Given the description of an element on the screen output the (x, y) to click on. 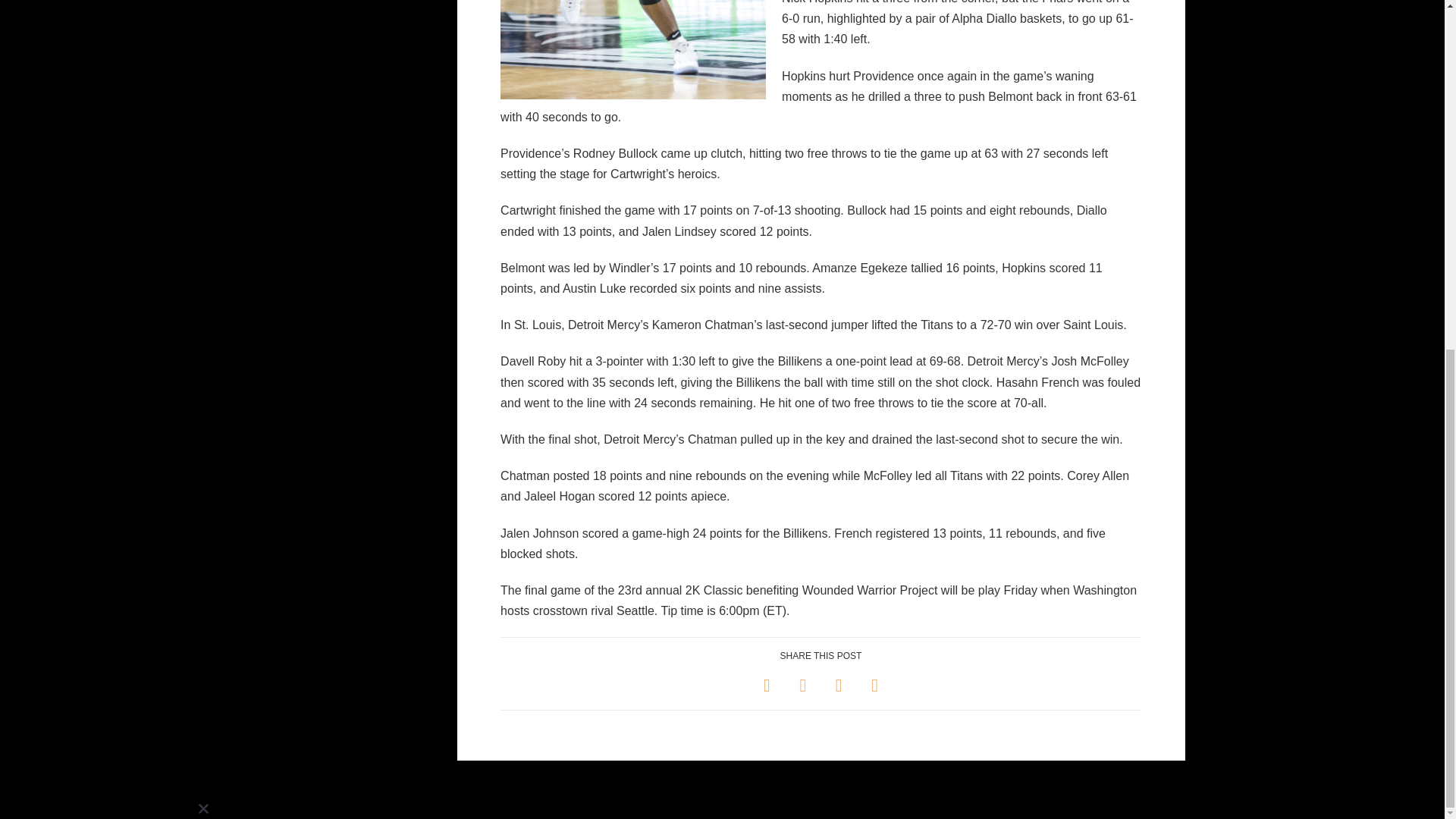
Back to Top (1423, 192)
